Given the description of an element on the screen output the (x, y) to click on. 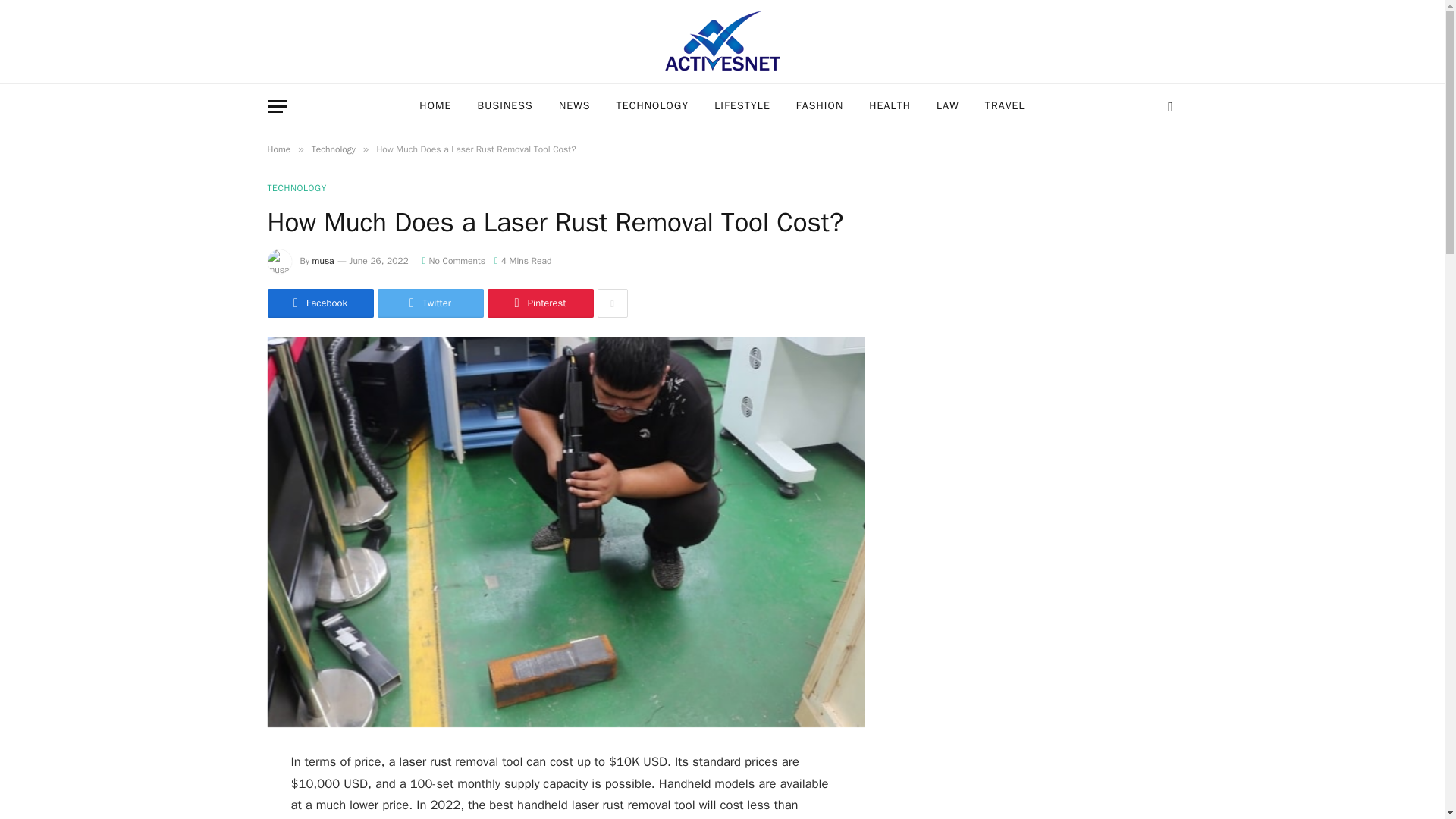
No Comments (453, 260)
HOME (435, 106)
Home (277, 149)
HEALTH (889, 106)
Share on Facebook (319, 303)
Facebook (319, 303)
LAW (947, 106)
TECHNOLOGY (652, 106)
Twitter (430, 303)
FASHION (819, 106)
Actives Net (722, 41)
BUSINESS (505, 106)
Pinterest (539, 303)
Technology (333, 149)
LIFESTYLE (742, 106)
